Given the description of an element on the screen output the (x, y) to click on. 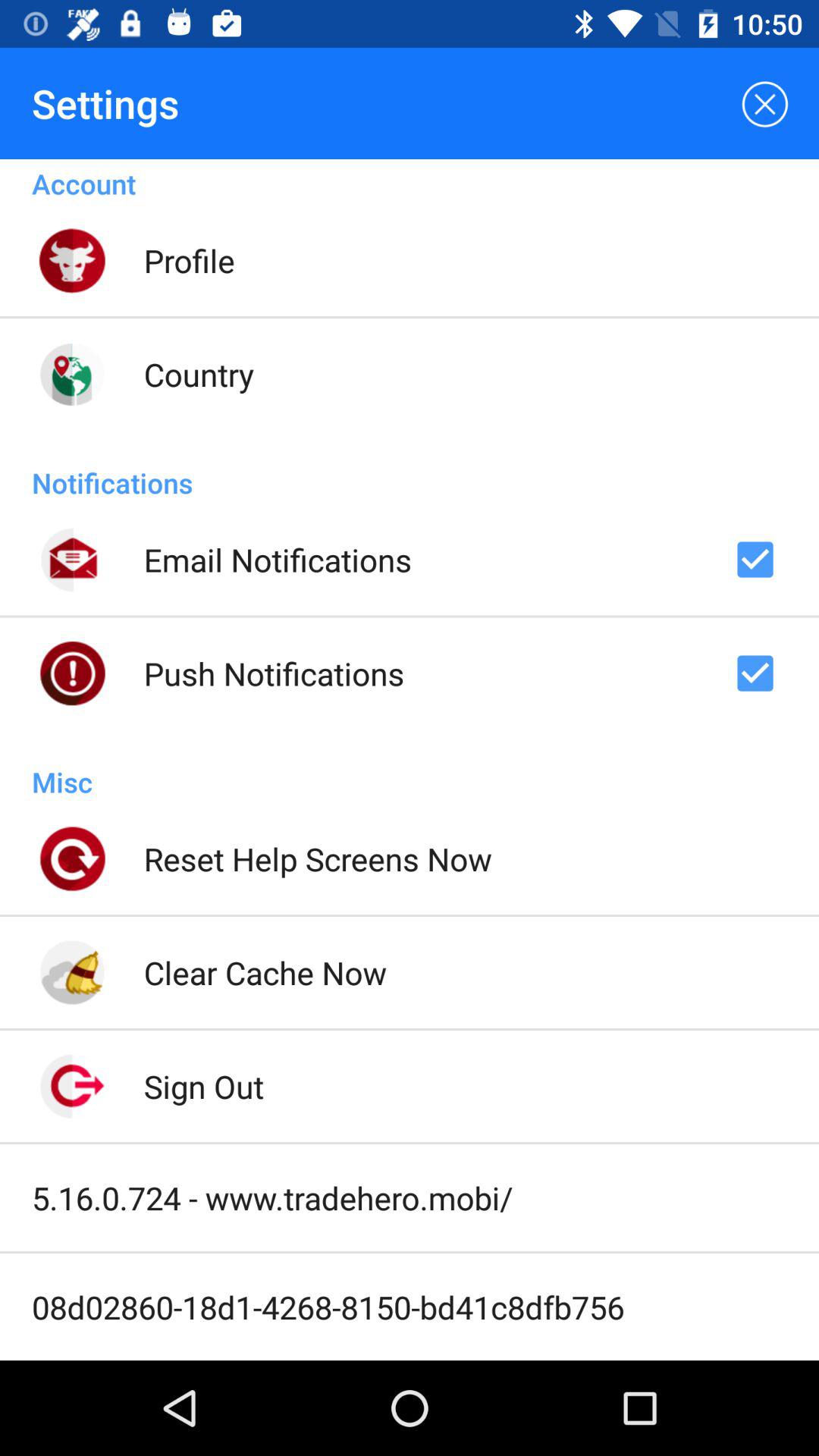
select icon above the 5 16 0 icon (203, 1085)
